Given the description of an element on the screen output the (x, y) to click on. 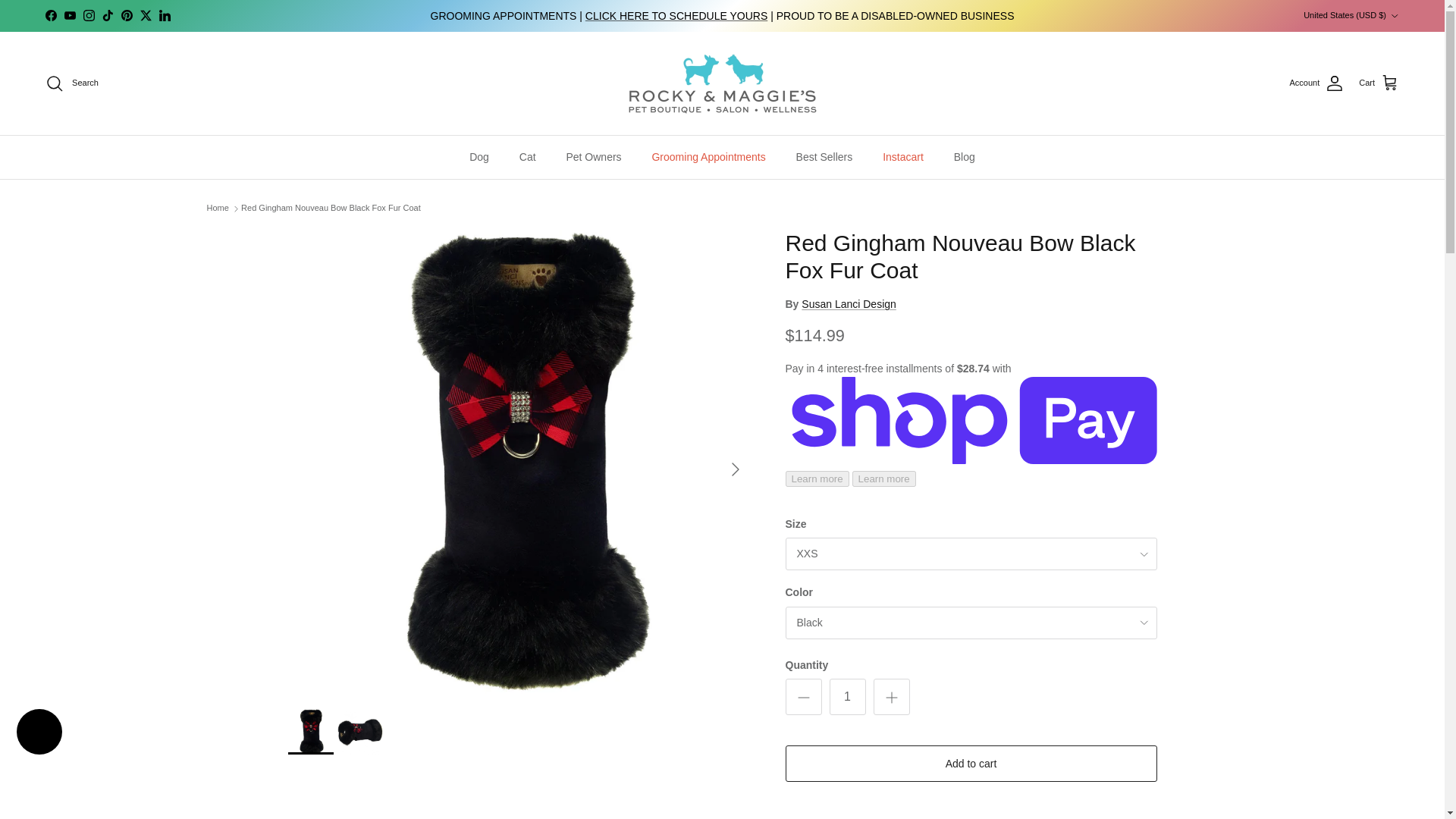
LinkedIn (164, 15)
Book a pet grooming appointment (676, 15)
YouTube (69, 15)
TikTok (107, 15)
Cat (527, 157)
CLICK HERE TO SCHEDULE YOURS (676, 15)
Search (72, 83)
Account (1315, 83)
Dog (478, 157)
Instagram (88, 15)
